Given the description of an element on the screen output the (x, y) to click on. 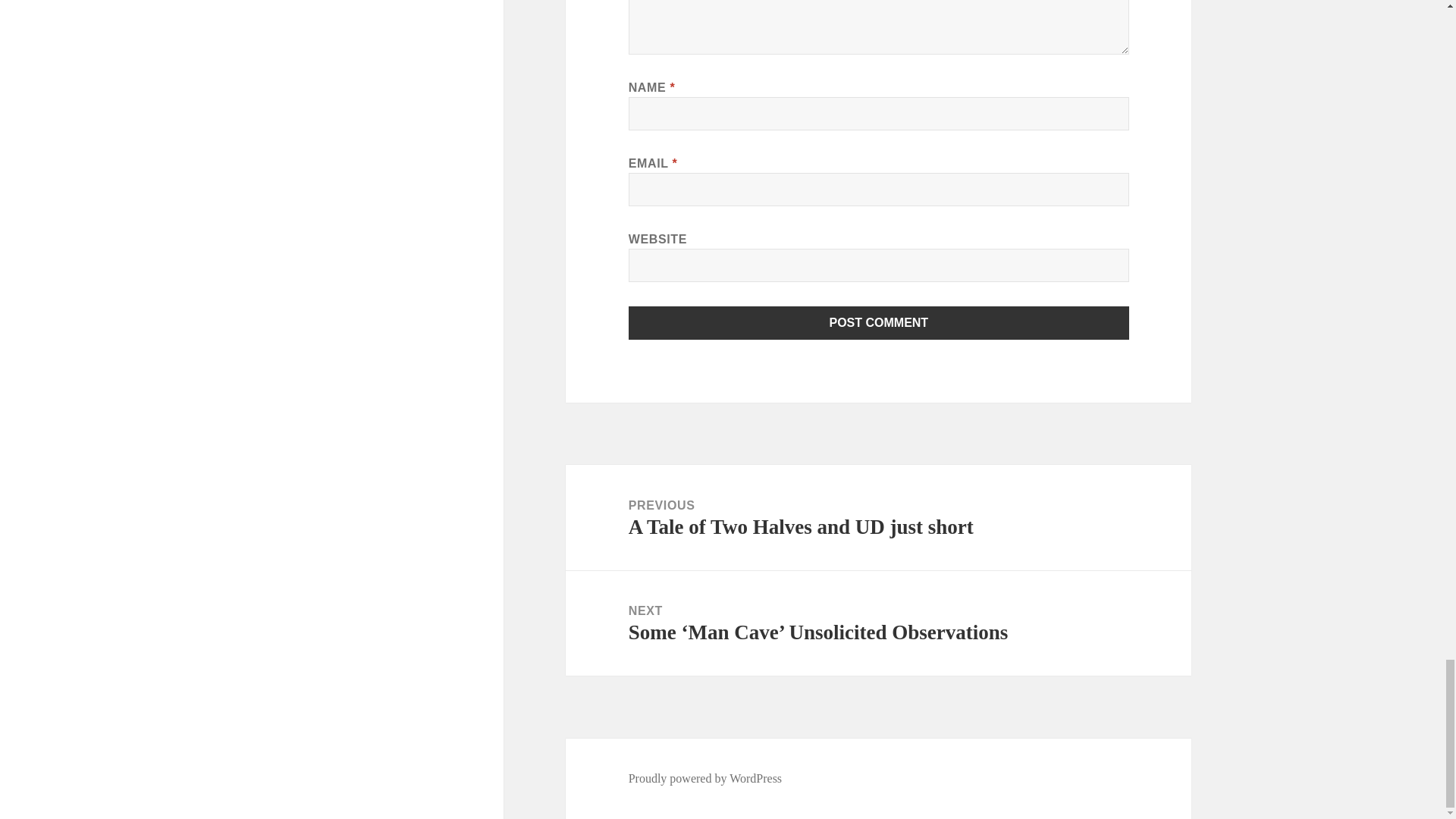
Proudly powered by WordPress (704, 778)
Post Comment (878, 322)
Post Comment (878, 322)
